Given the description of an element on the screen output the (x, y) to click on. 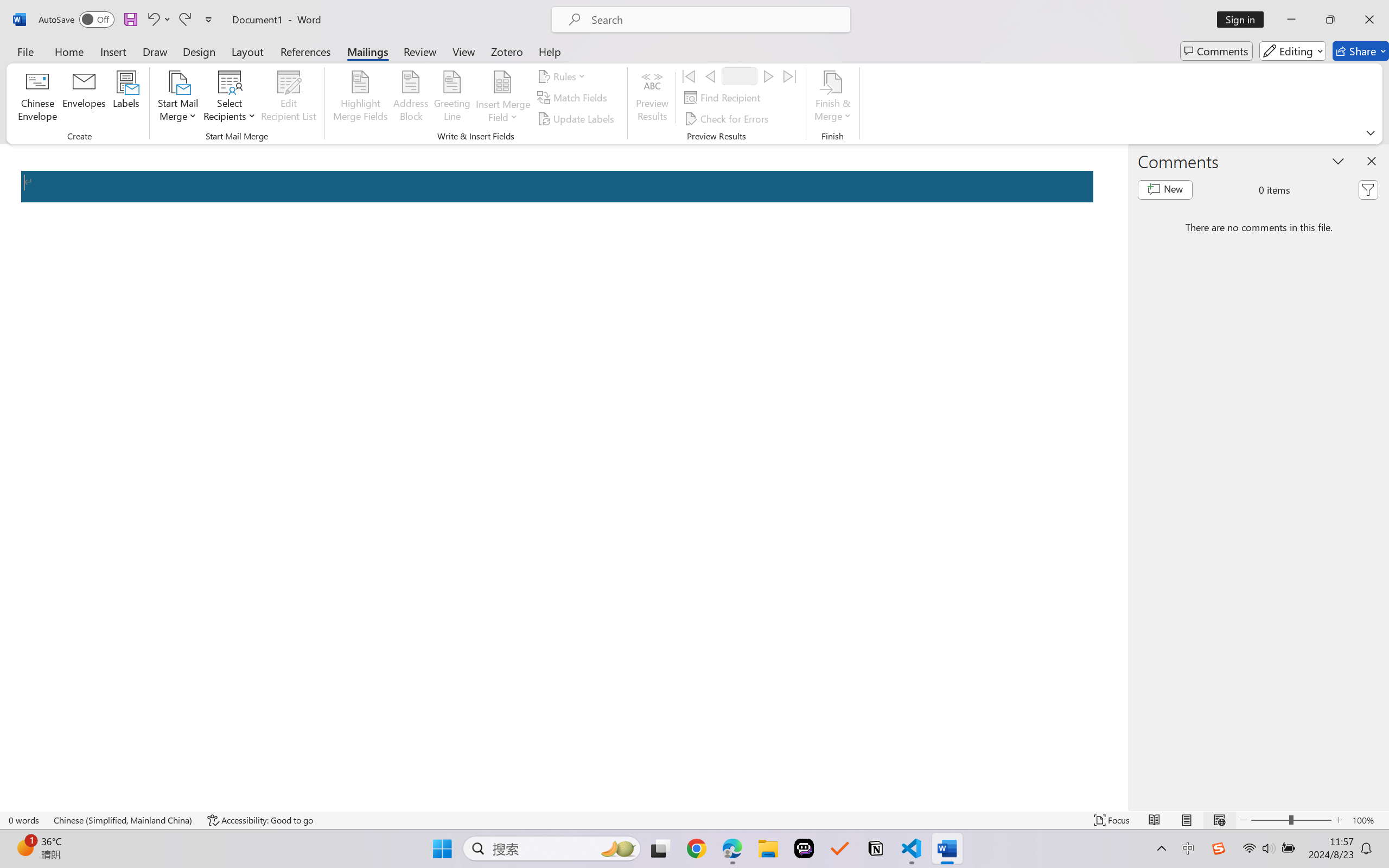
Finish & Merge (832, 97)
Select Recipients (229, 97)
Undo Apply Quick Style Set (158, 19)
New comment (1165, 189)
Update Labels (576, 118)
Envelopes... (84, 97)
Language Chinese (Simplified, Mainland China) (123, 819)
